Given the description of an element on the screen output the (x, y) to click on. 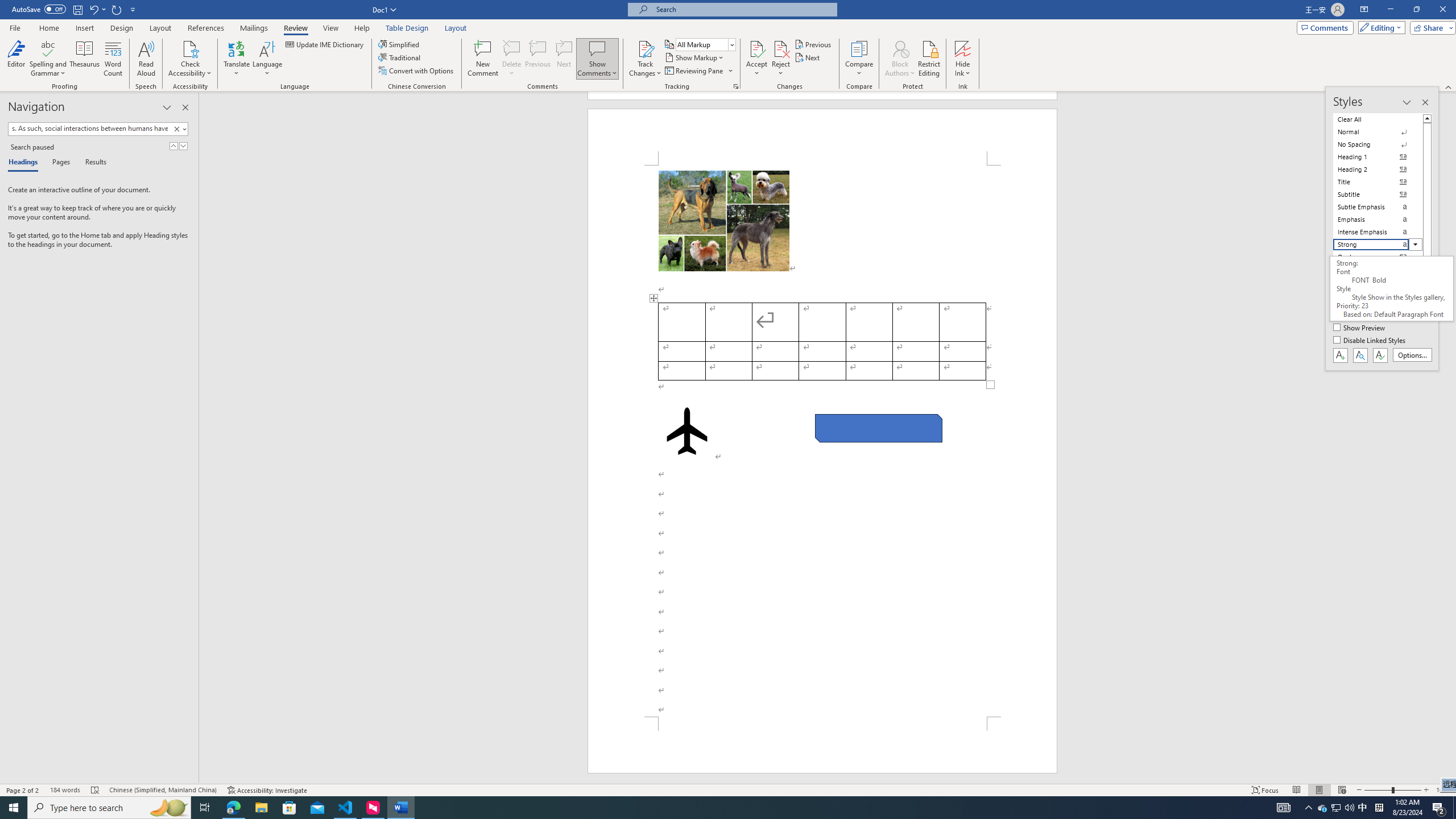
Undo Style (96, 9)
Spelling and Grammar Check Errors (94, 790)
Show Markup (695, 56)
Word Count 184 words (64, 790)
Spelling and Grammar (48, 58)
Traditional (400, 56)
Results (91, 162)
Hide Ink (962, 58)
Repeat Style (117, 9)
Page 2 content (822, 440)
Track Changes (644, 48)
Convert with Options... (417, 69)
Language (267, 58)
